Given the description of an element on the screen output the (x, y) to click on. 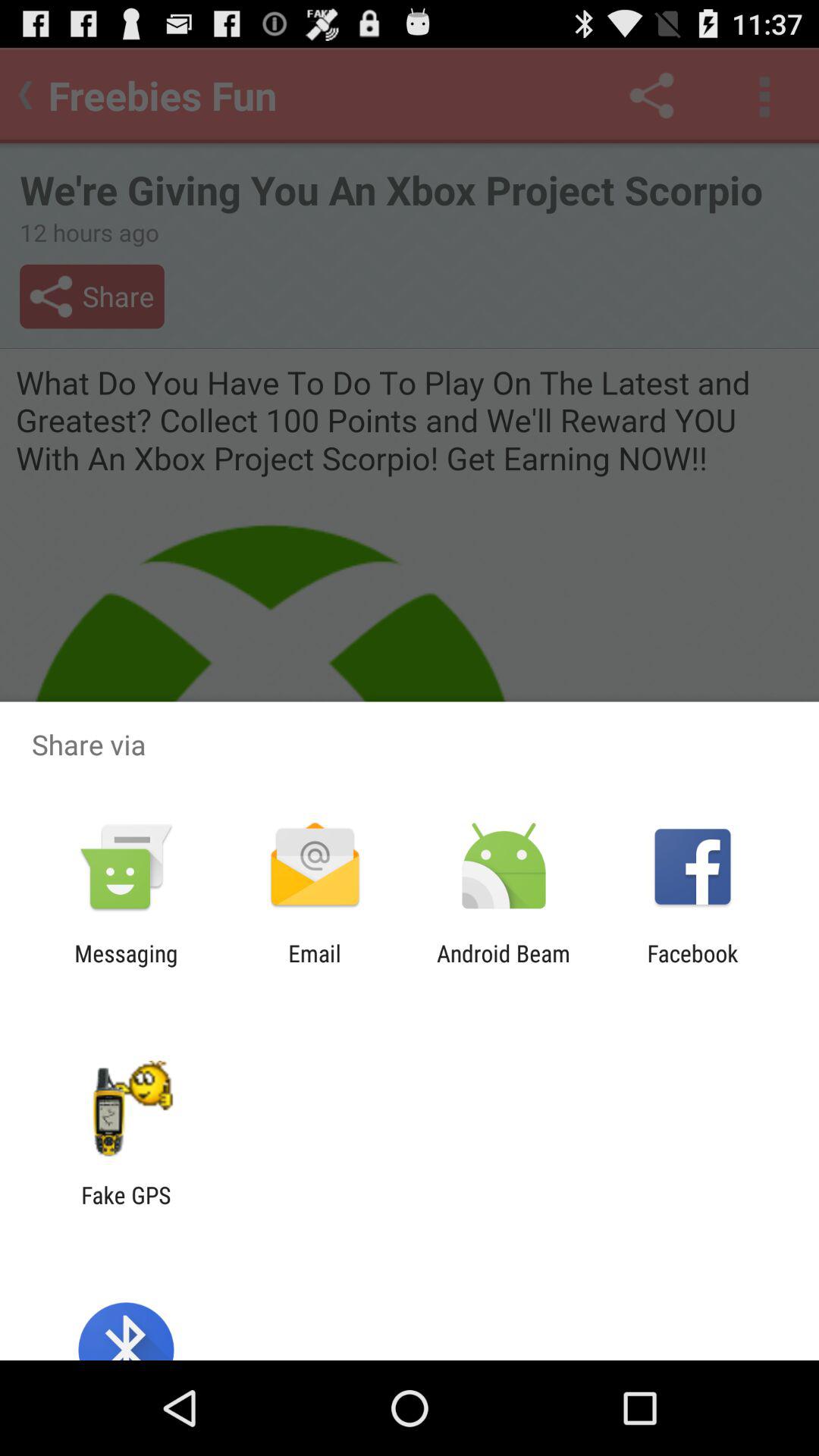
click icon to the right of android beam item (692, 966)
